Given the description of an element on the screen output the (x, y) to click on. 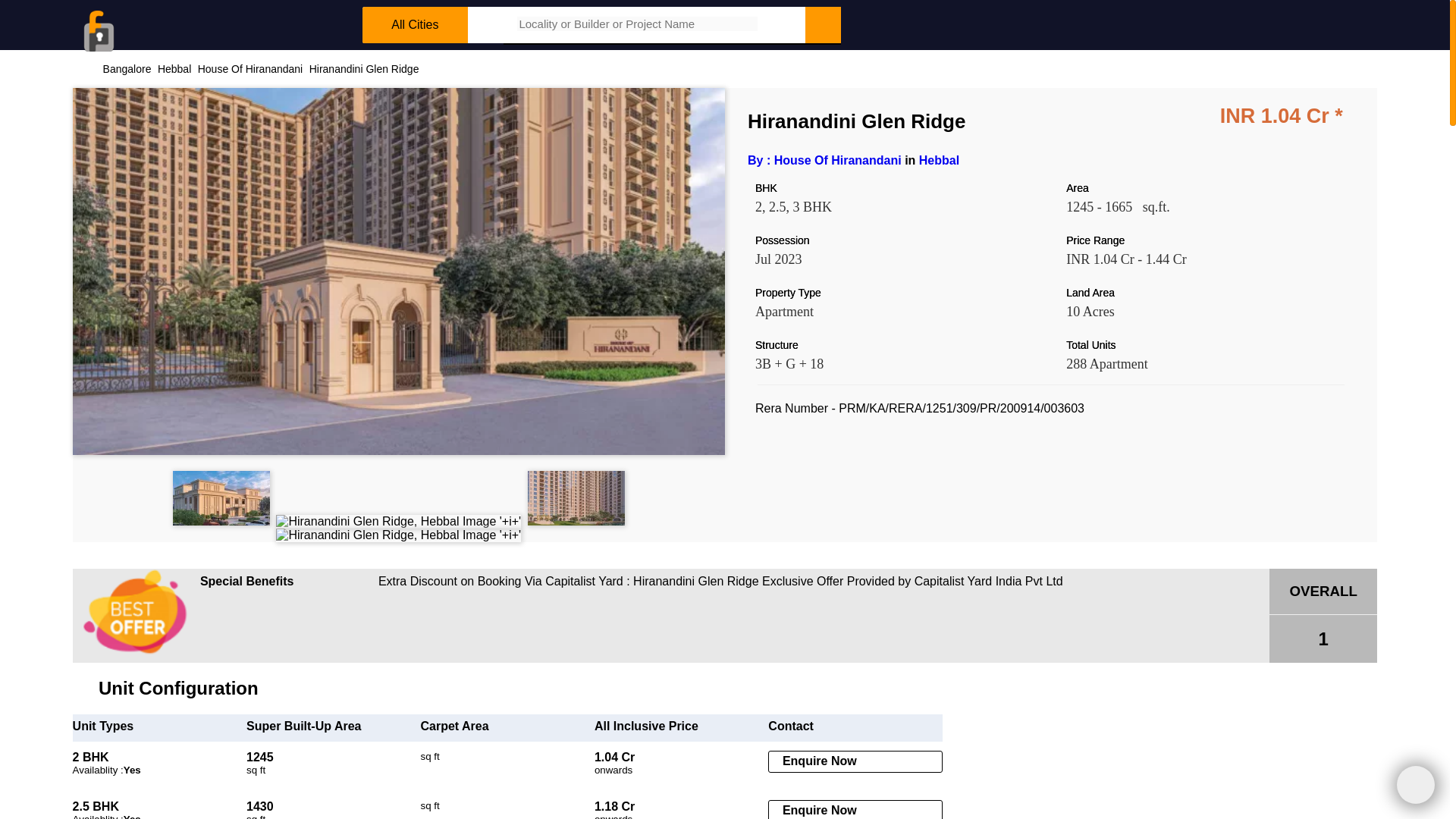
Hiranandini Glen Ridge (363, 69)
Hebbal (173, 69)
House Of Hiranandani (250, 69)
By : House Of Hiranandani (824, 160)
Hebbal (938, 160)
Bangalore (127, 69)
